Given the description of an element on the screen output the (x, y) to click on. 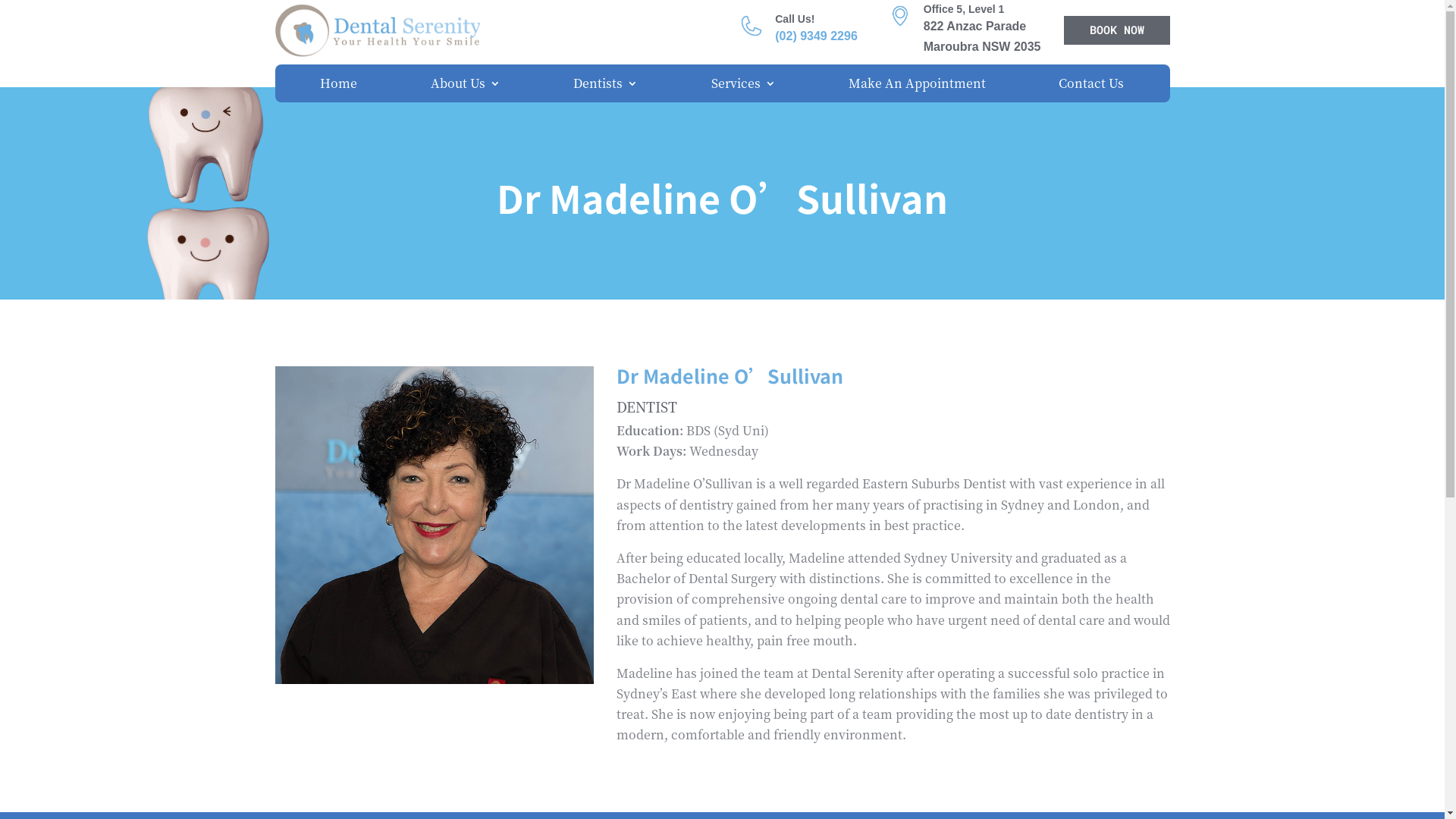
About Us Element type: text (465, 86)
Services Element type: text (743, 86)
Contact Us Element type: text (1090, 86)
logo Element type: hover (376, 29)
Make An Appointment Element type: text (916, 86)
BOOK NOW Element type: text (1116, 30)
Dentists Element type: text (605, 86)
Home Element type: text (338, 86)
